Given the description of an element on the screen output the (x, y) to click on. 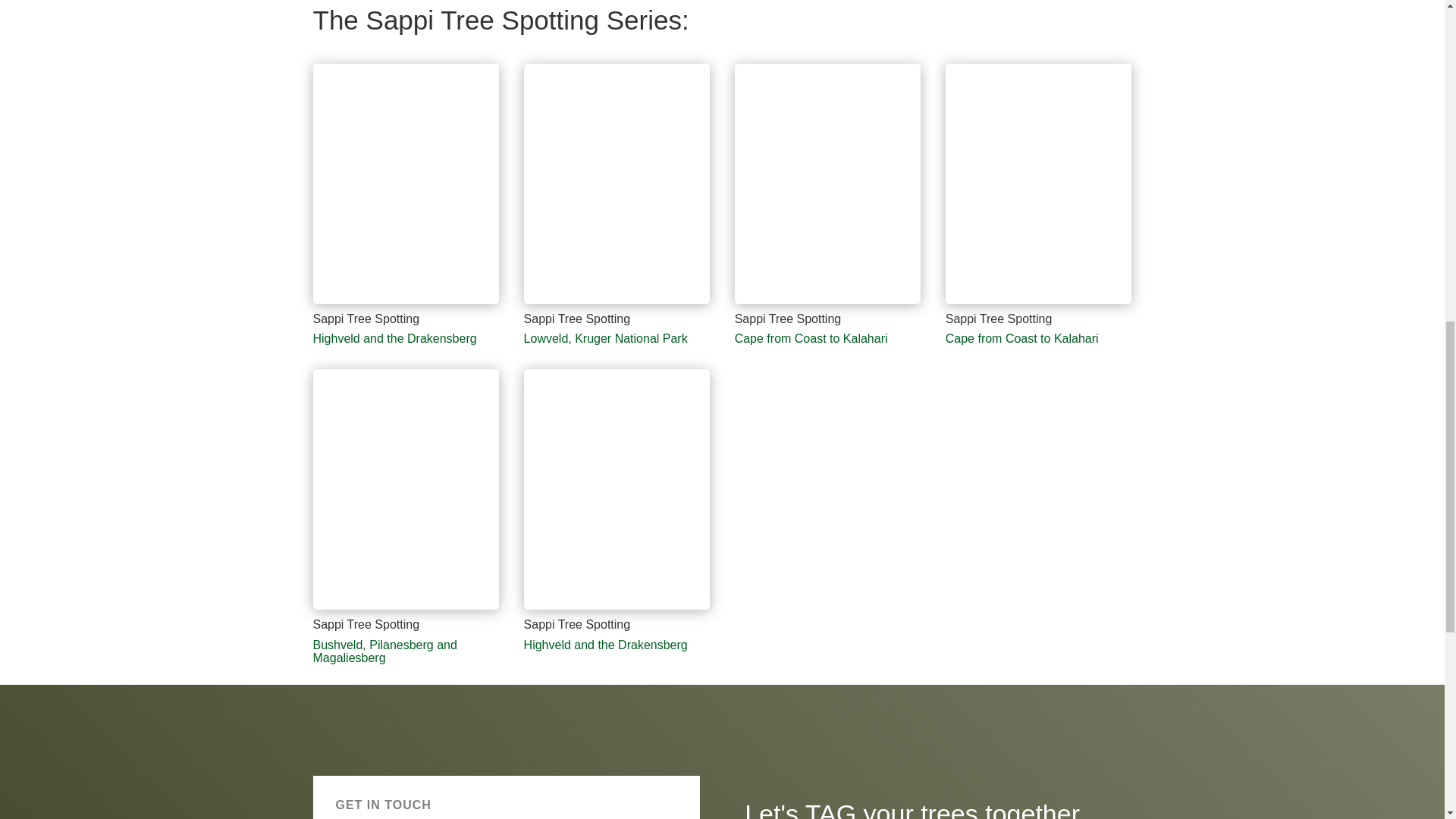
Sappi Tree Spotting (406, 608)
Sappi Tree Spotting (828, 303)
Sappi Tree Spotting (1038, 303)
Sappi Tree Spotting (617, 303)
Sappi Tree Spotting (406, 303)
